Given the description of an element on the screen output the (x, y) to click on. 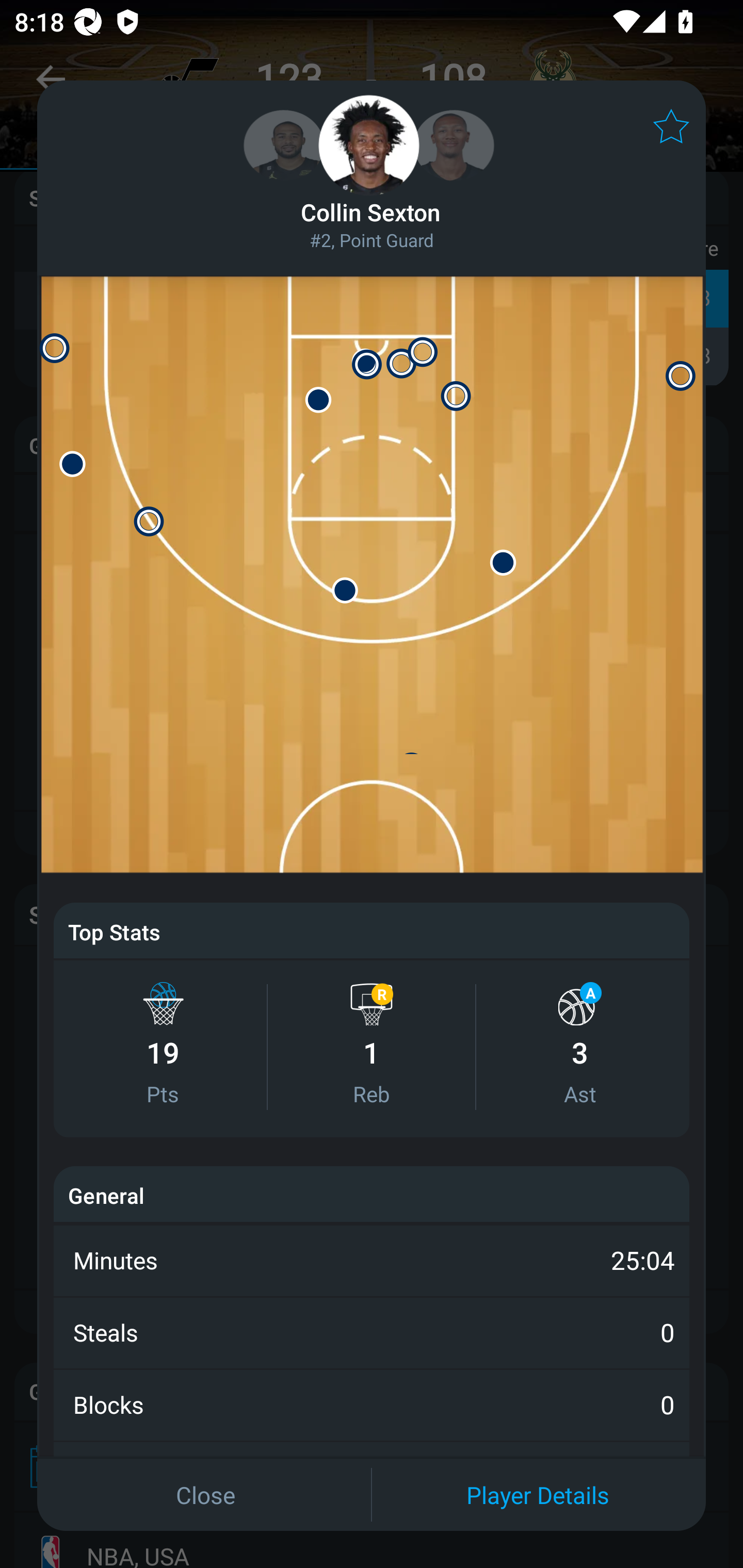
General (106, 1194)
Close (205, 1494)
Player Details (537, 1494)
